Given the description of an element on the screen output the (x, y) to click on. 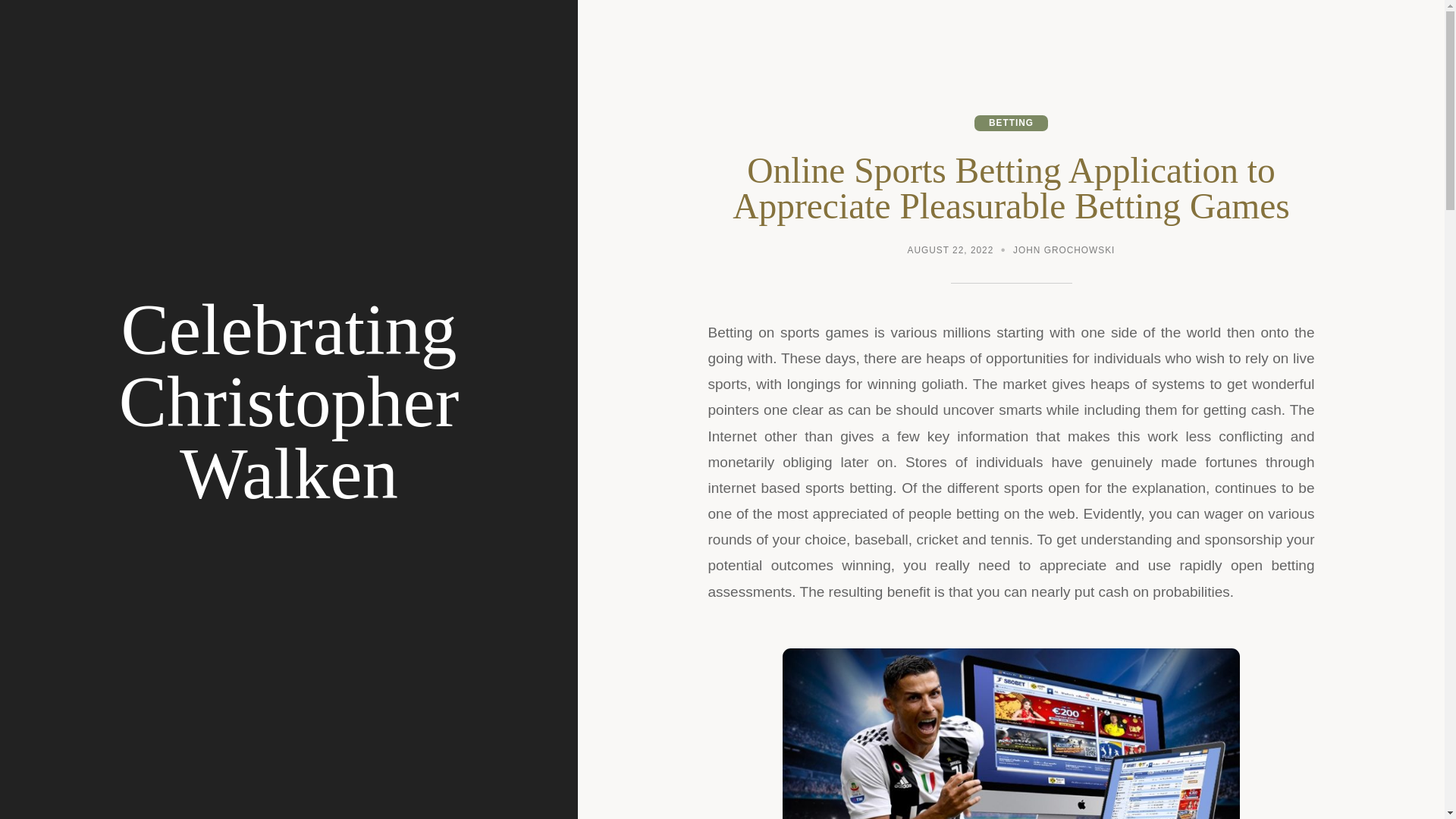
AUGUST 22, 2022 (950, 251)
JOHN GROCHOWSKI (1064, 251)
Celebrating Christopher Walken (288, 402)
BETTING (1011, 123)
